Given the description of an element on the screen output the (x, y) to click on. 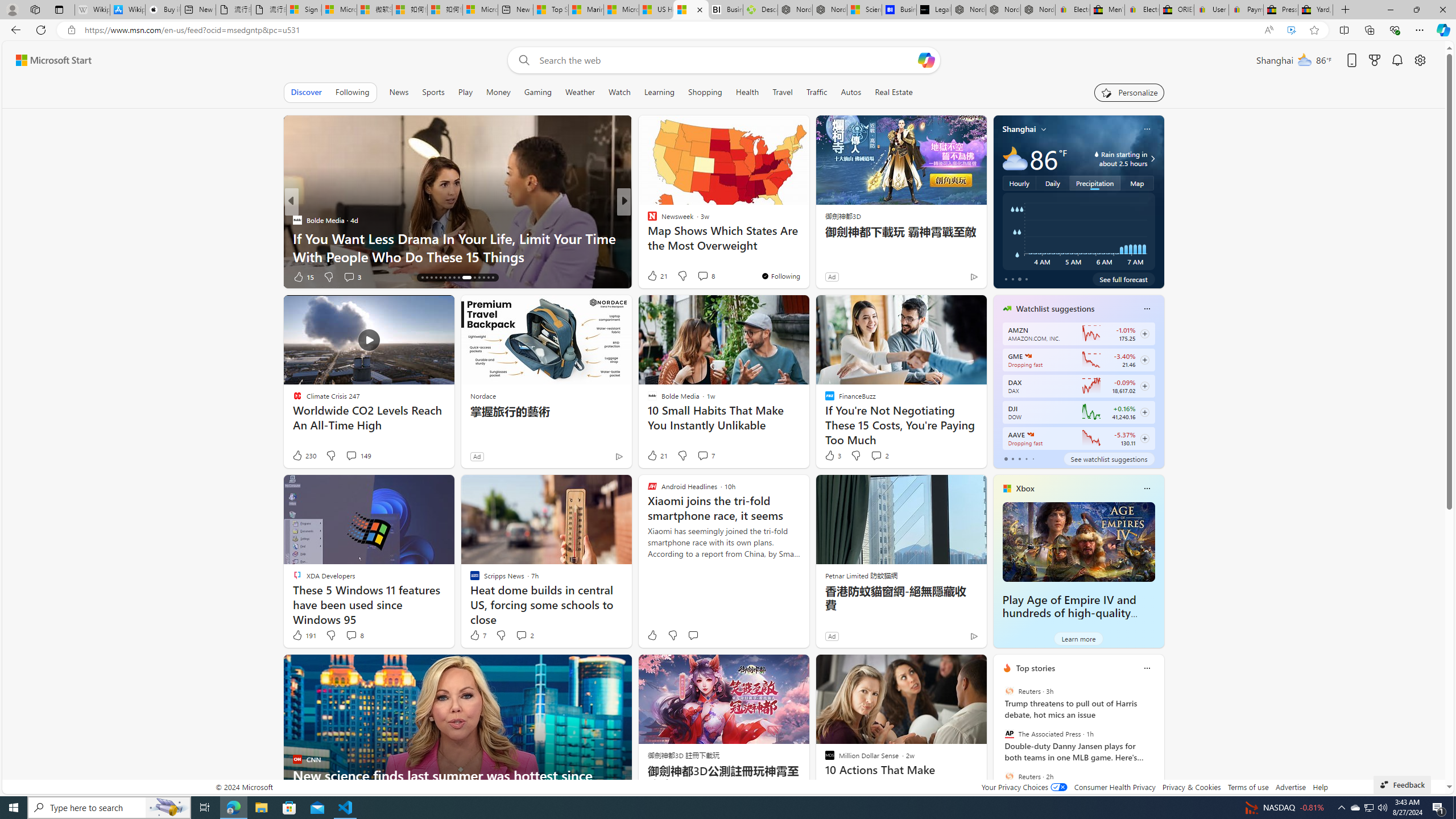
Mostly cloudy (1014, 158)
Like (652, 634)
Live Science (647, 238)
191 Like (303, 634)
How to Clean a Bathroom from Top to Bottom (807, 256)
89 Like (652, 276)
Reuters (1008, 775)
Xbox (1025, 488)
